Given the description of an element on the screen output the (x, y) to click on. 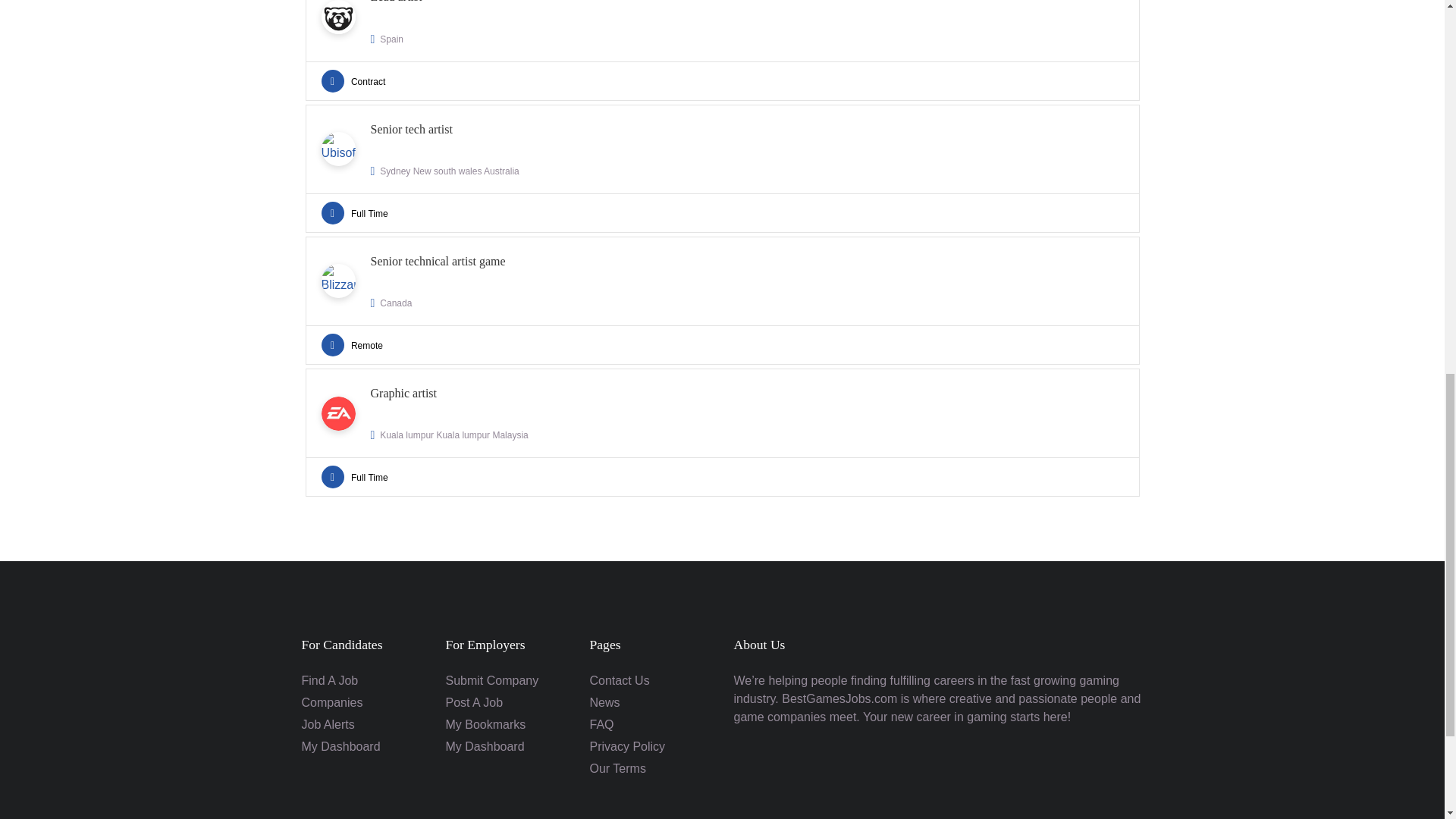
Companies (721, 300)
Find A Job (331, 702)
Job Alerts (329, 680)
